Given the description of an element on the screen output the (x, y) to click on. 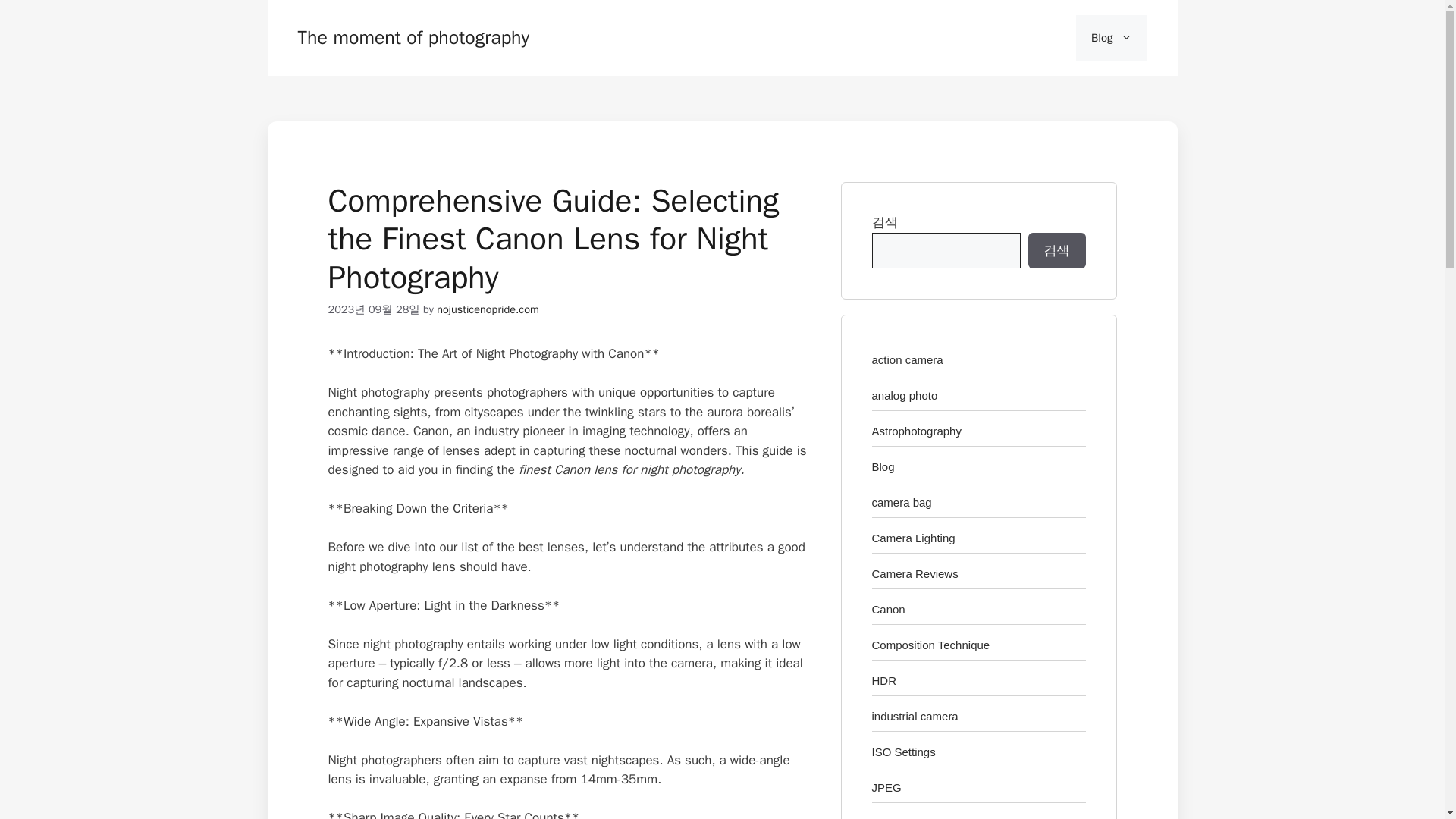
The moment of photography (413, 37)
action camera (907, 359)
Composition Technique (931, 644)
analog photo (904, 395)
nojusticenopride.com (487, 309)
Camera Reviews (915, 573)
Canon (888, 608)
camera bag (901, 502)
HDR (884, 680)
Blog (1111, 37)
industrial camera (915, 716)
ISO Settings (904, 751)
Camera Lighting (913, 537)
View all posts by nojusticenopride.com (487, 309)
JPEG (886, 787)
